Given the description of an element on the screen output the (x, y) to click on. 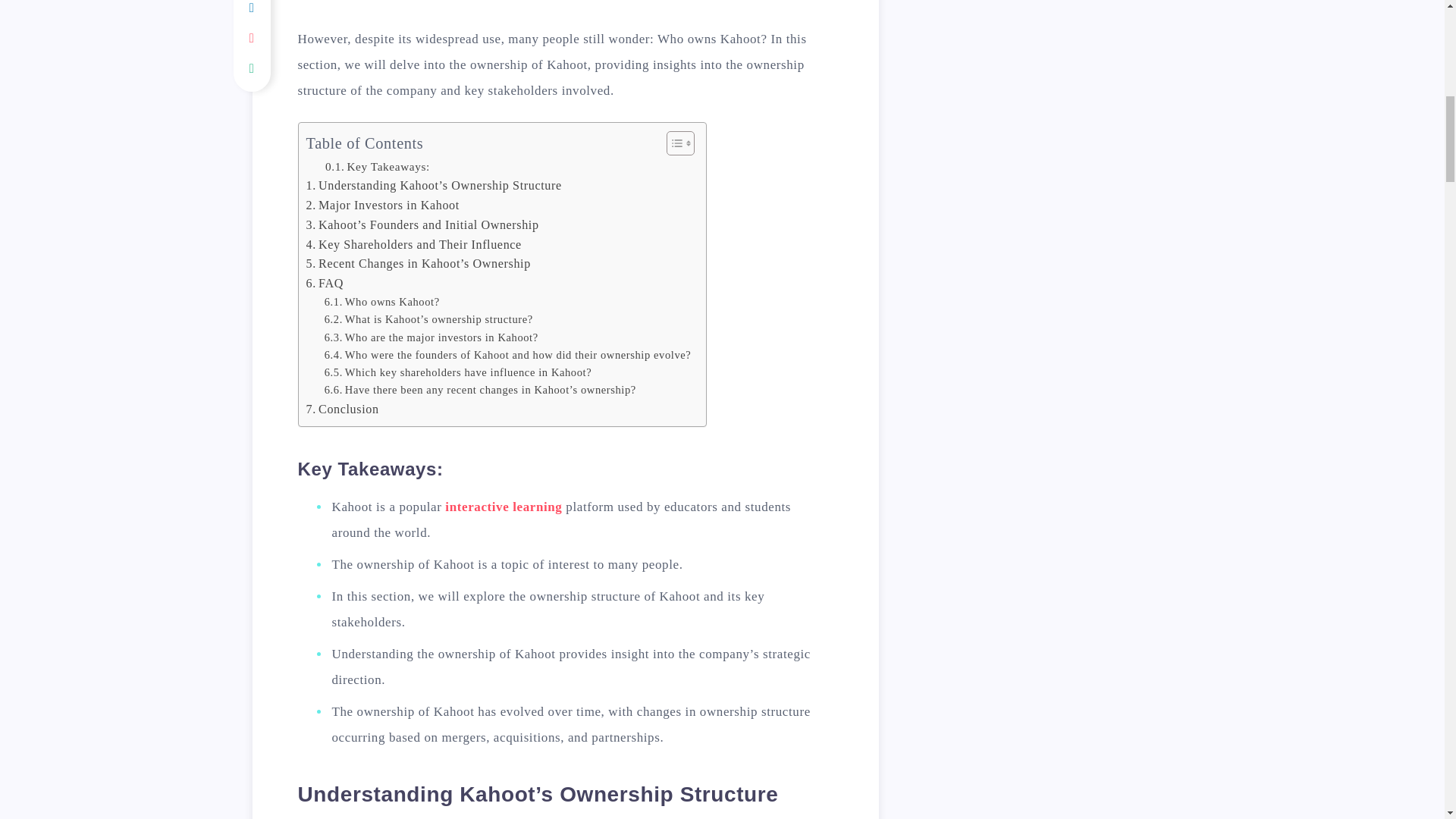
Key Takeaways: (376, 167)
Who owns Kahoot? (381, 302)
FAQ (324, 283)
Who are the major investors in Kahoot? (431, 337)
Major Investors in Kahoot (382, 205)
Key Shareholders and Their Influence (413, 244)
